Given the description of an element on the screen output the (x, y) to click on. 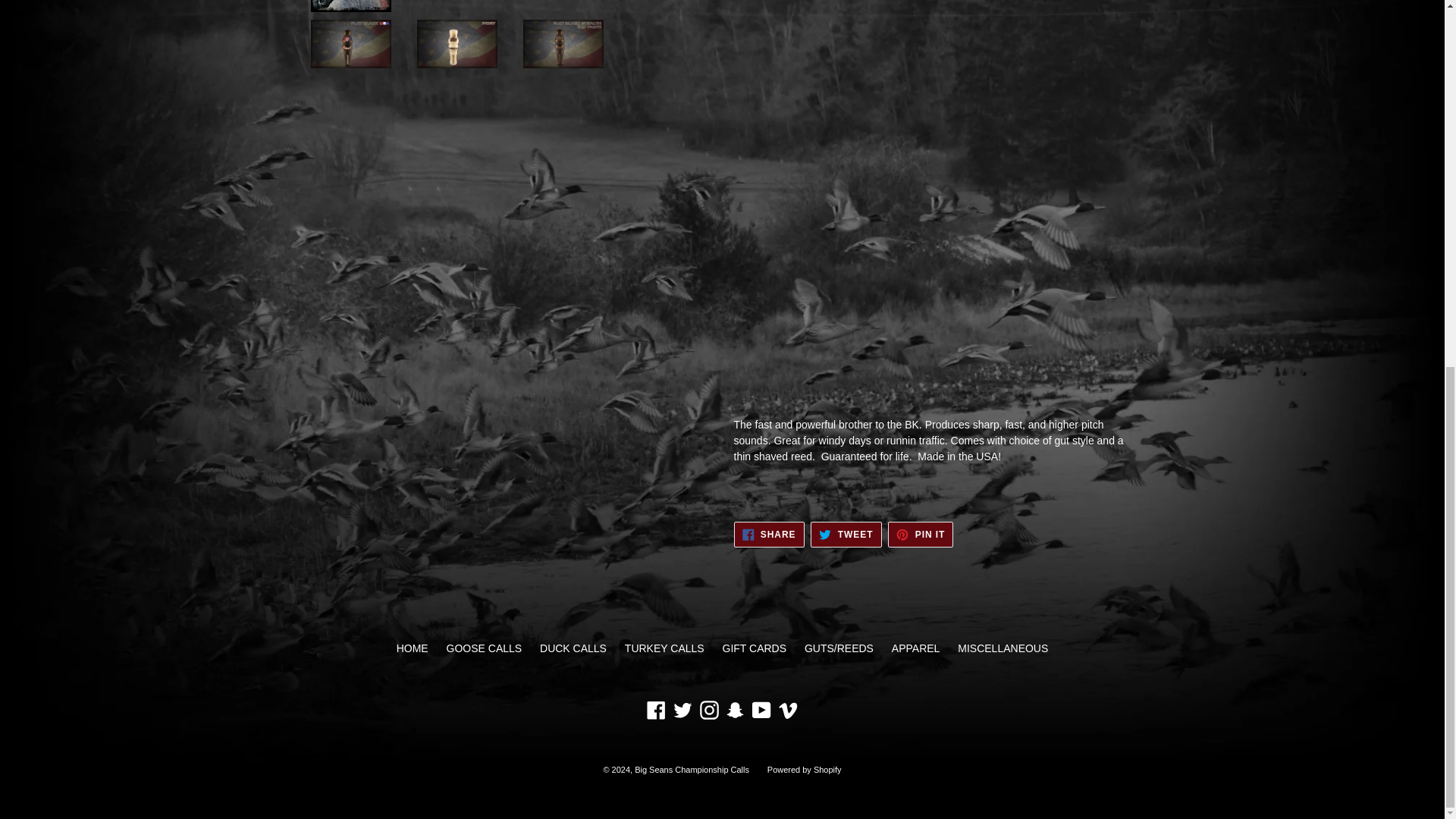
Big Seans Championship Calls on Twitter (682, 710)
Pin on Pinterest (769, 534)
Share on Facebook (920, 534)
Big Seans Championship Calls on YouTube (920, 534)
Big Seans Championship Calls on Instagram (769, 534)
Big Seans Championship Calls on Snapchat (761, 710)
Big Seans Championship Calls on Facebook (708, 710)
Tweet on Twitter (734, 710)
